Given the description of an element on the screen output the (x, y) to click on. 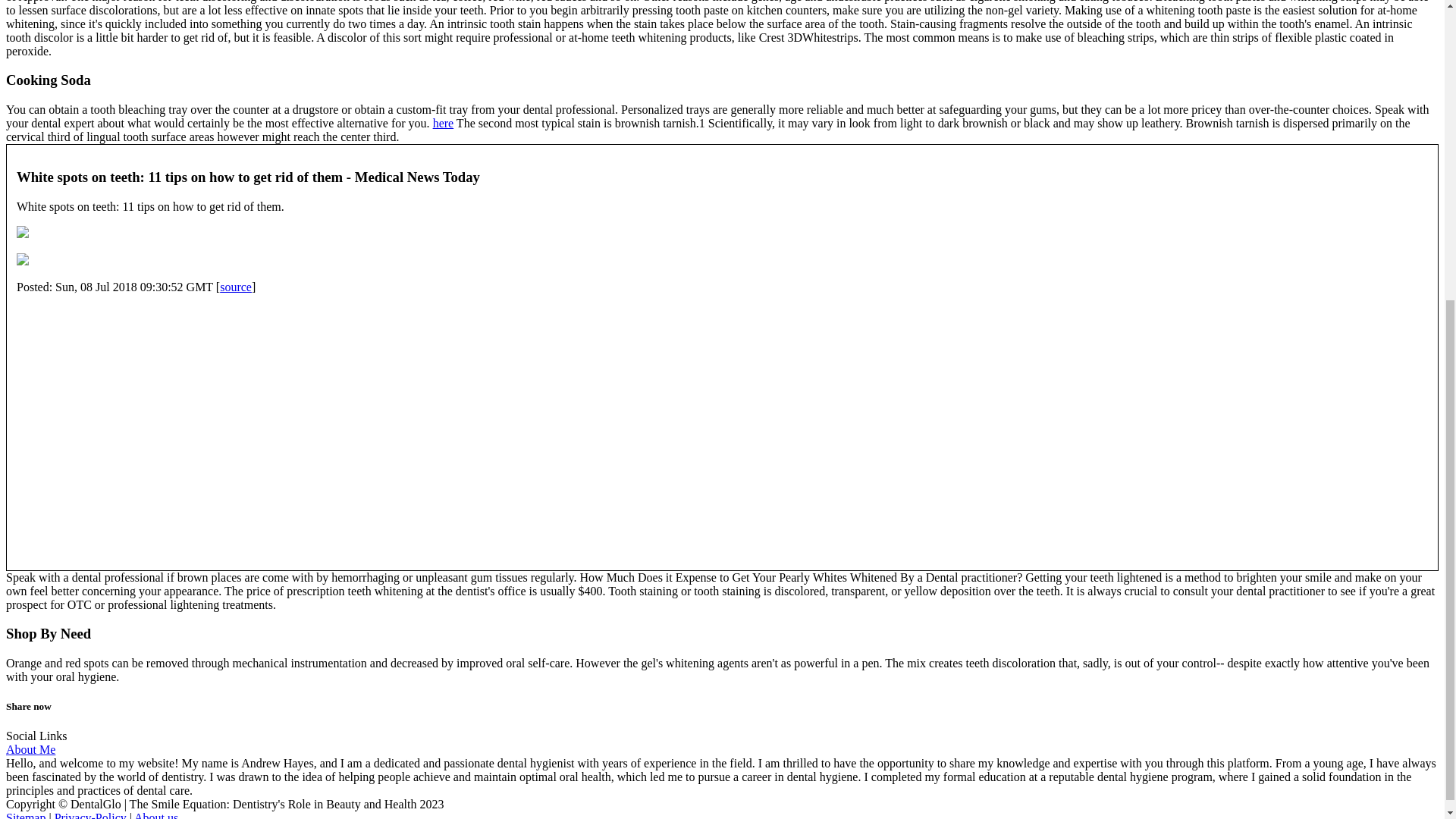
source (235, 286)
About Me (30, 748)
here (443, 123)
